Given the description of an element on the screen output the (x, y) to click on. 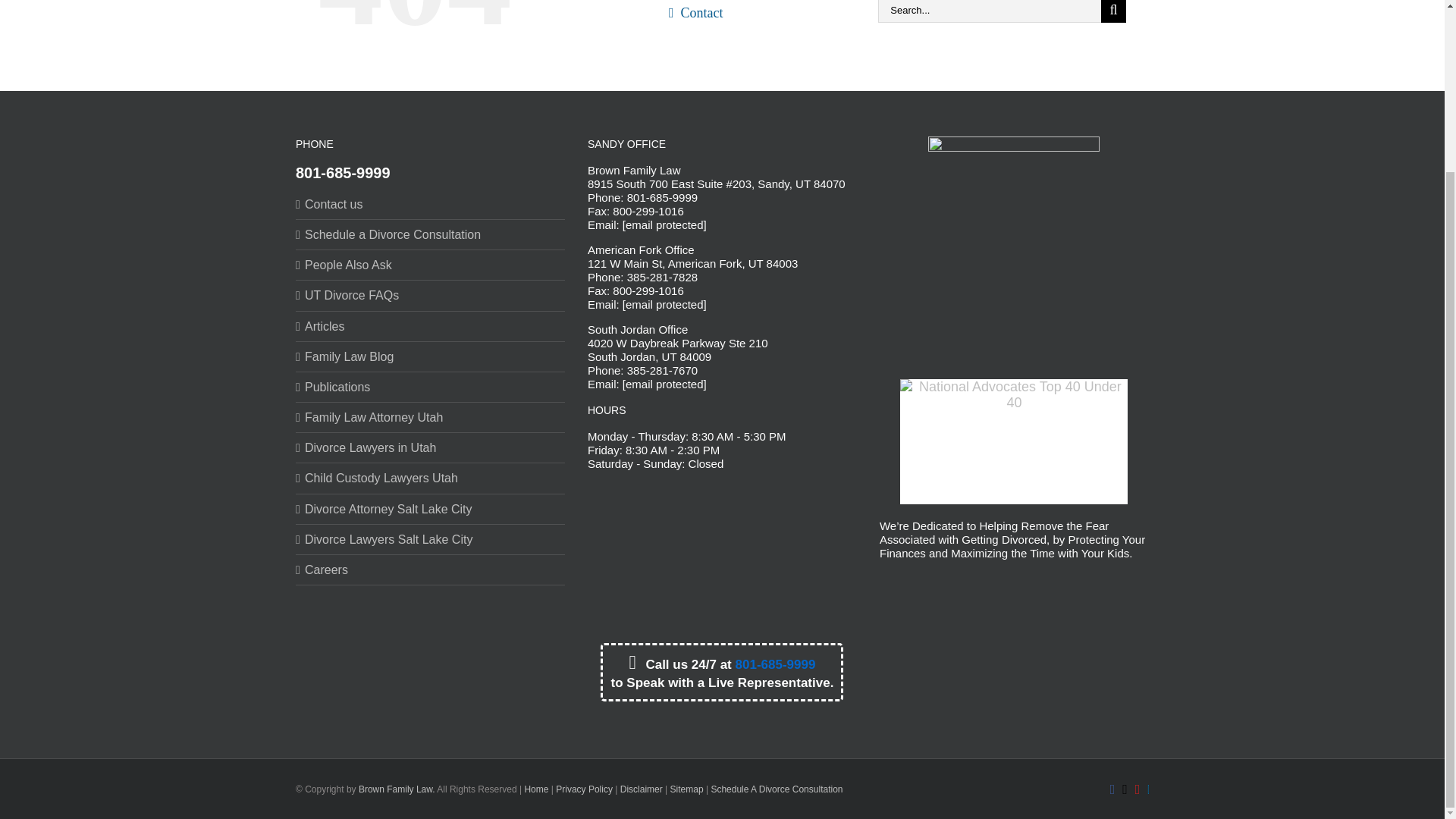
Child Custody Lawyers Utah (430, 477)
Divorce Lawyers in Utah (430, 447)
FAQ (753, 2)
Family Law Attorney Utah (430, 416)
Divorce Attorney Salt Lake City (430, 508)
Contact (753, 18)
Contact us (430, 203)
UT Divorce FAQs (430, 295)
Divorce Lawyers Salt Lake City (430, 538)
Schedule a Divorce Consultation (430, 233)
